Given the description of an element on the screen output the (x, y) to click on. 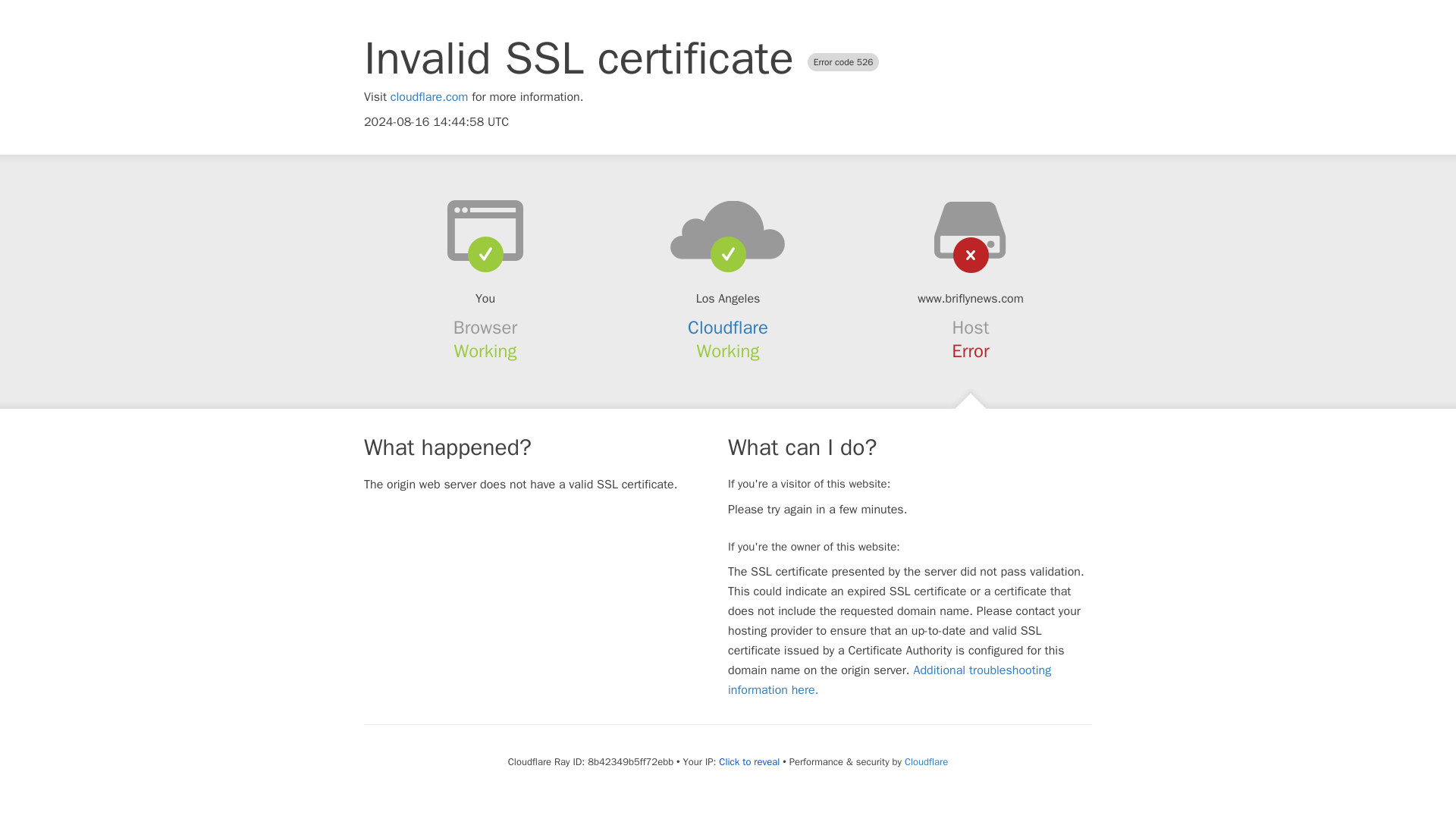
cloudflare.com (429, 96)
Click to reveal (748, 762)
Additional troubleshooting information here. (889, 679)
Cloudflare (727, 327)
Cloudflare (925, 761)
